Given the description of an element on the screen output the (x, y) to click on. 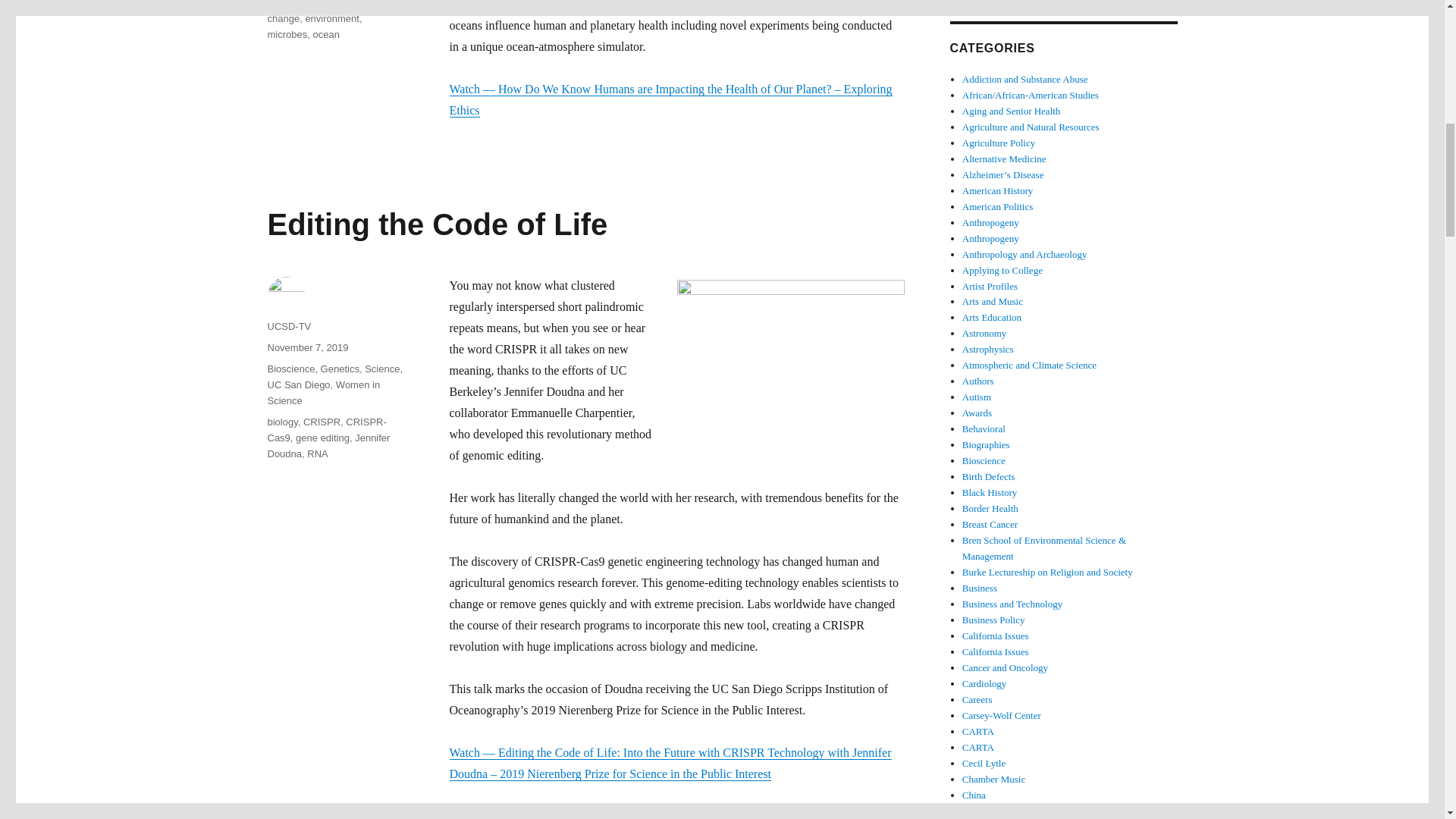
Science (381, 368)
Bioscience (290, 368)
climate change (331, 12)
atmosphere (292, 4)
environment (331, 18)
November 7, 2019 (306, 347)
Editing the Code of Life (436, 224)
Genetics (339, 368)
ocean (326, 34)
microbes (286, 34)
bacteria (341, 4)
UCSD-TV (288, 326)
